Given the description of an element on the screen output the (x, y) to click on. 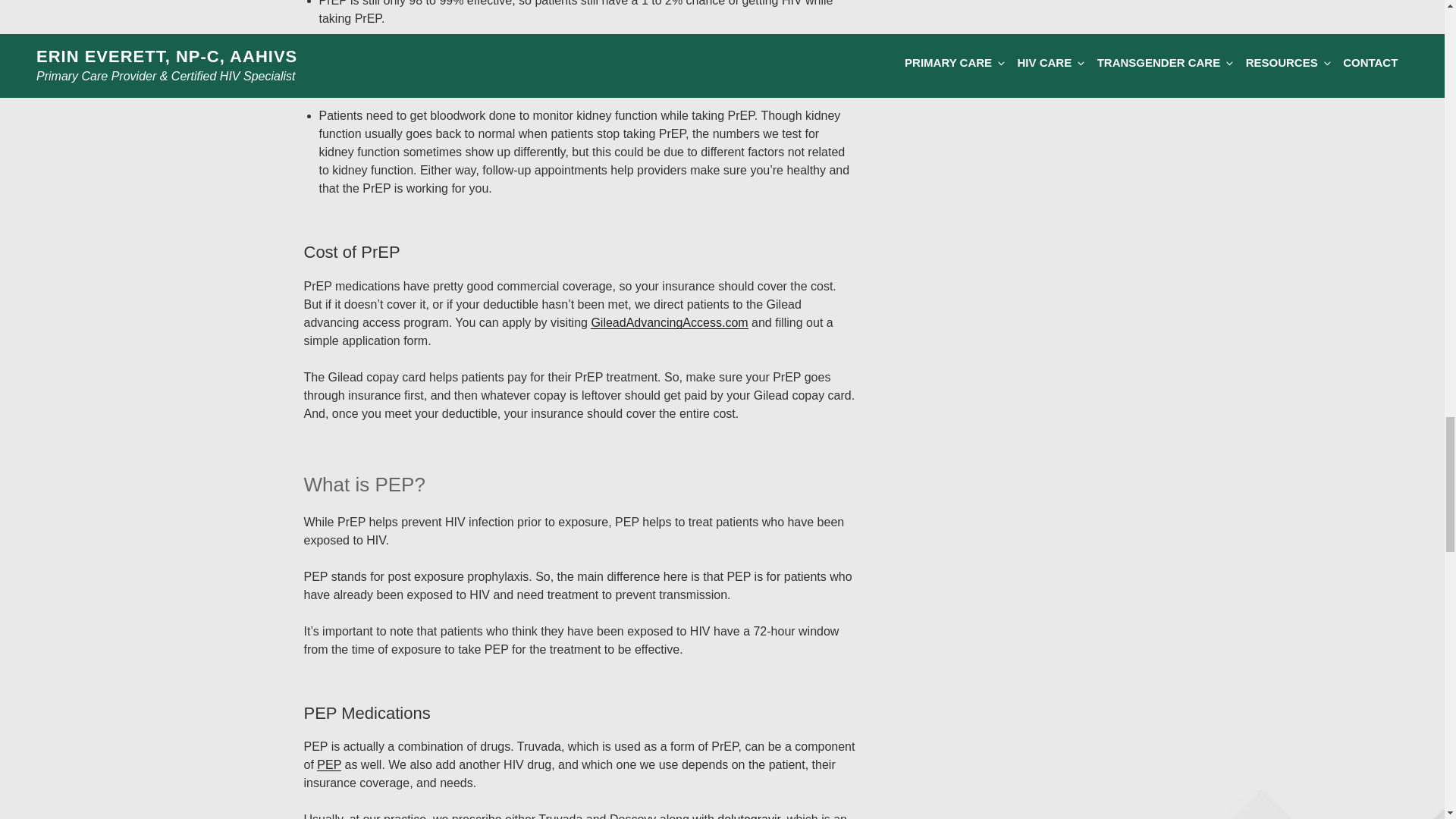
GileadAdvancingAccess.com (669, 322)
PEP (328, 764)
dolutegravir (748, 816)
